Given the description of an element on the screen output the (x, y) to click on. 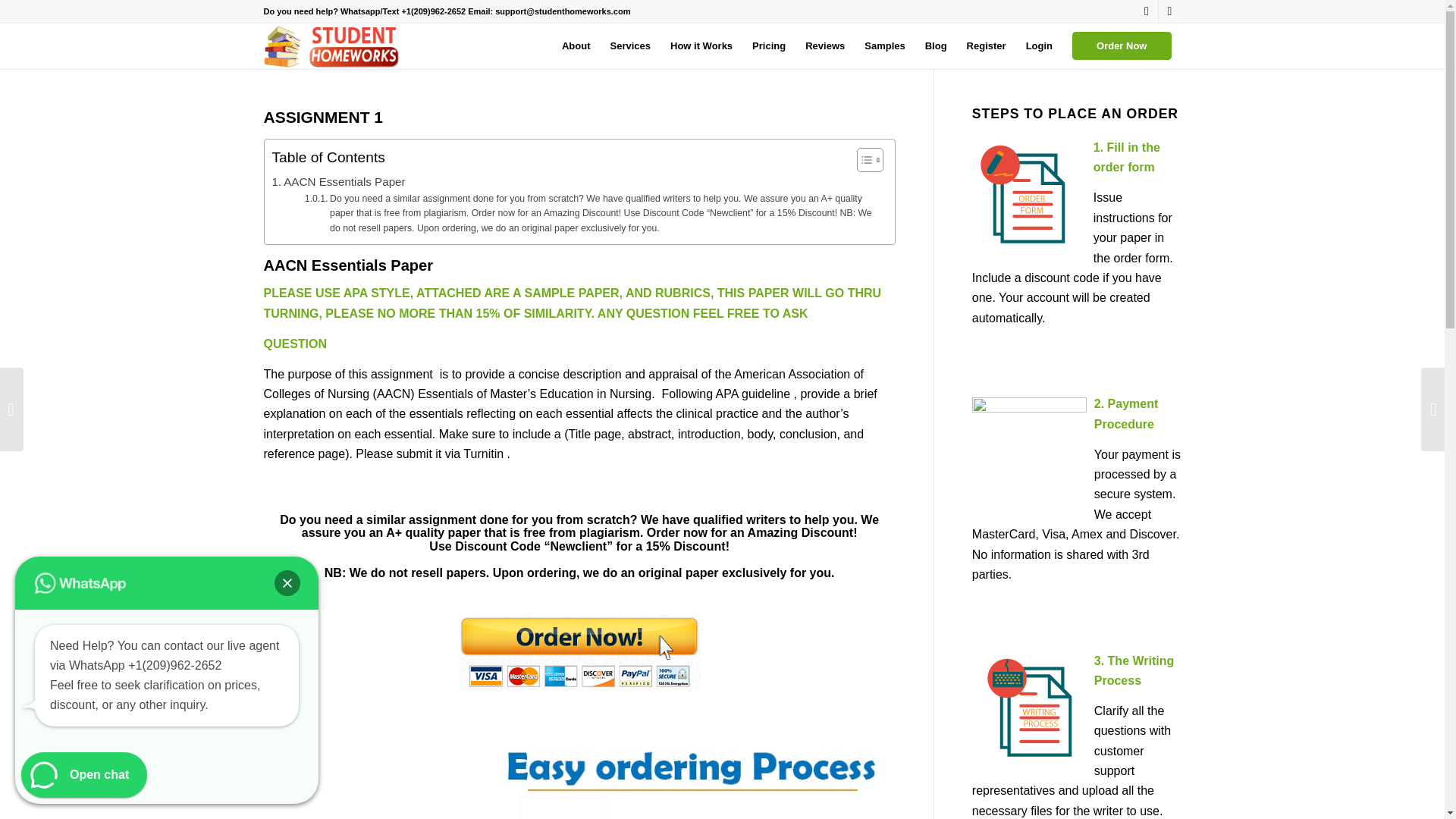
Asset-3 (334, 45)
Close (287, 583)
Samples (884, 45)
Twitter (1146, 11)
Blog (935, 45)
AACN Essentials Paper (337, 181)
How it Works (701, 45)
Login (1039, 45)
About (575, 45)
Reviews (824, 45)
Register (986, 45)
Pricing (768, 45)
AACN Essentials Paper (337, 181)
Order Now (1121, 45)
Services (630, 45)
